Given the description of an element on the screen output the (x, y) to click on. 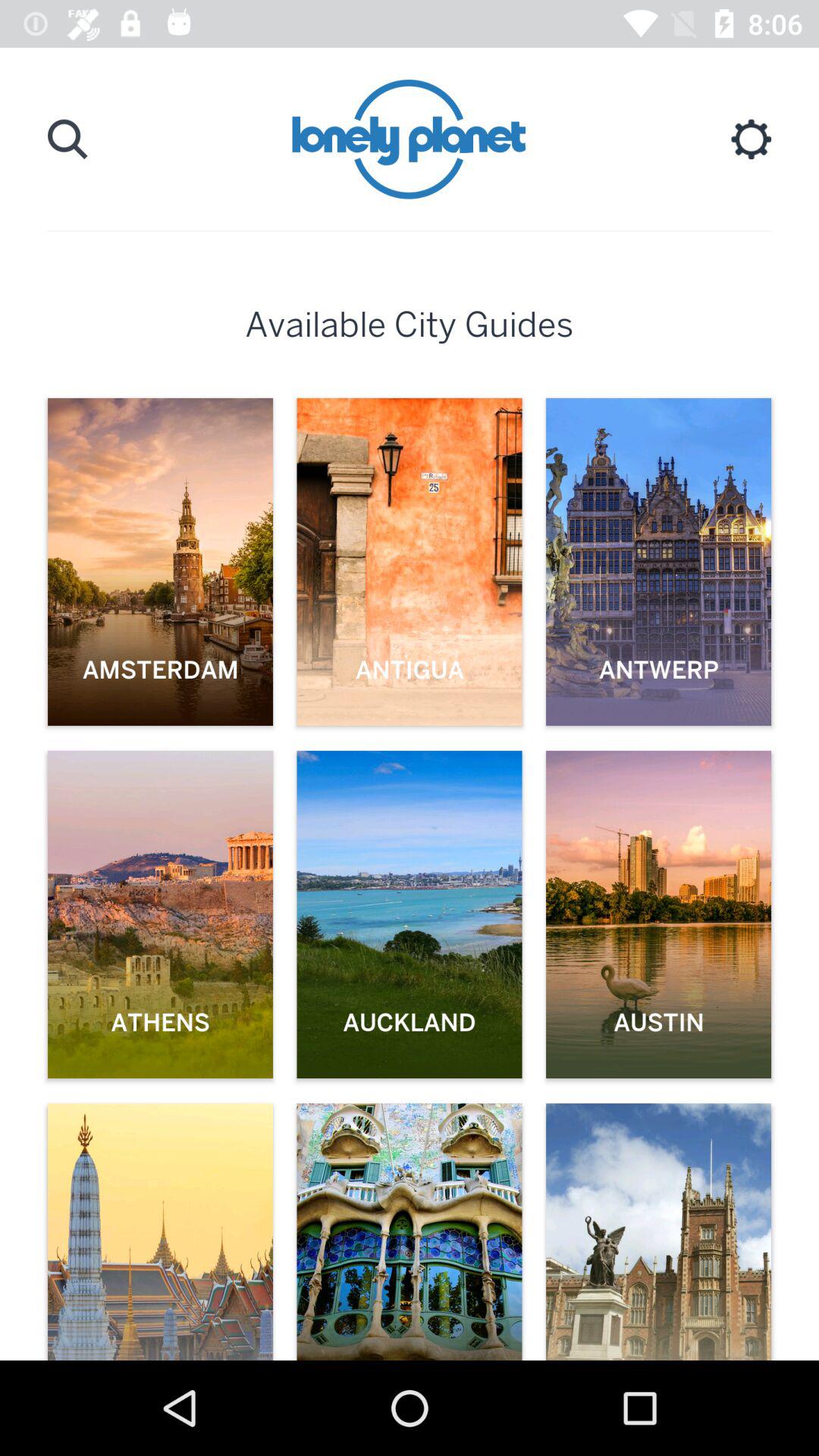
select the icon at the top left corner (67, 139)
